Given the description of an element on the screen output the (x, y) to click on. 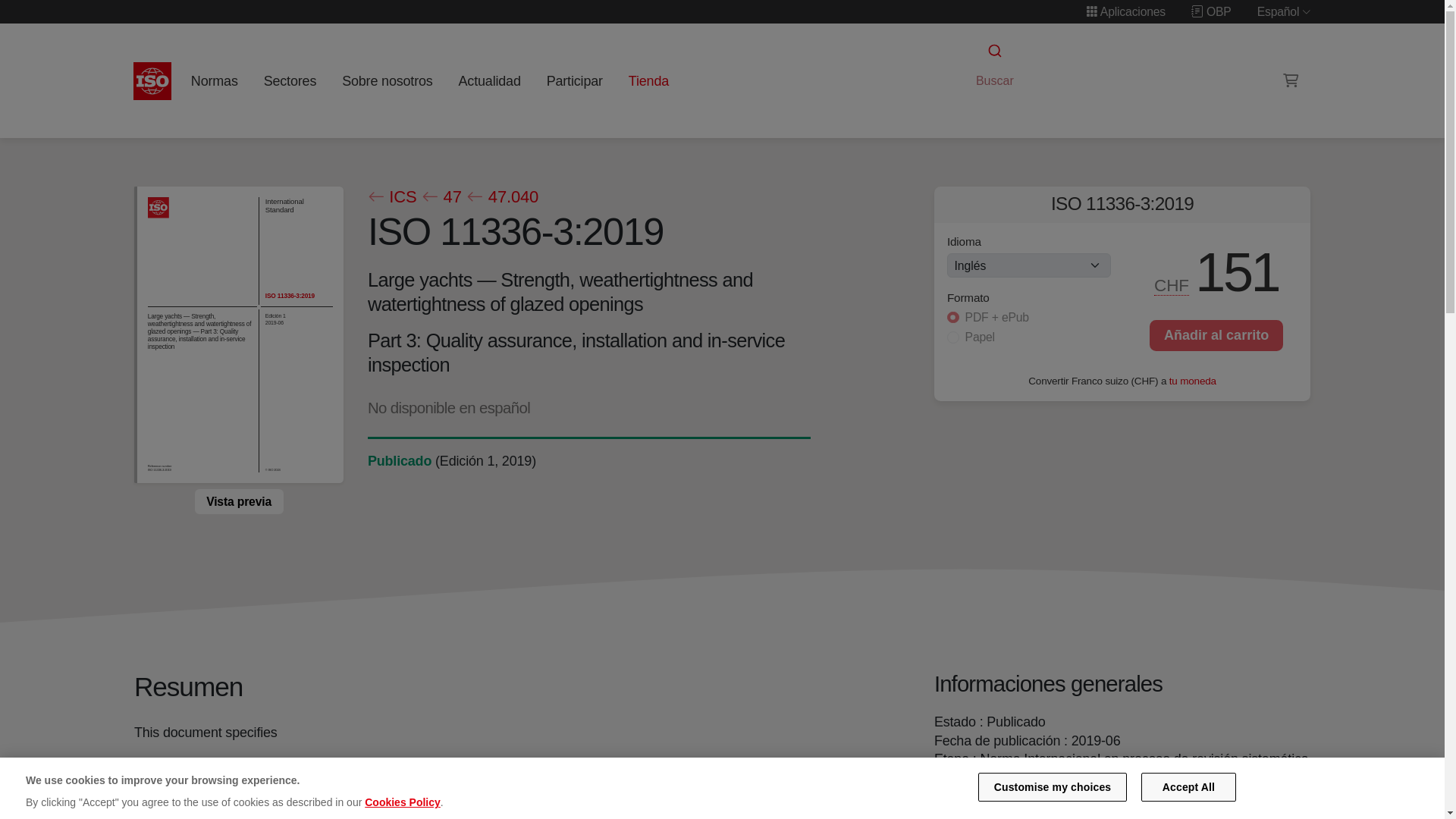
Participar (574, 80)
Sobre nosotros (387, 80)
90.20 (954, 776)
 OBP (1211, 11)
Submit (993, 51)
Ciclo de vida (398, 460)
90.20 (954, 776)
tu moneda (1192, 379)
Actualidad (489, 80)
Tienda (648, 80)
Portal de aplicaciones de ISO (1126, 11)
